Given the description of an element on the screen output the (x, y) to click on. 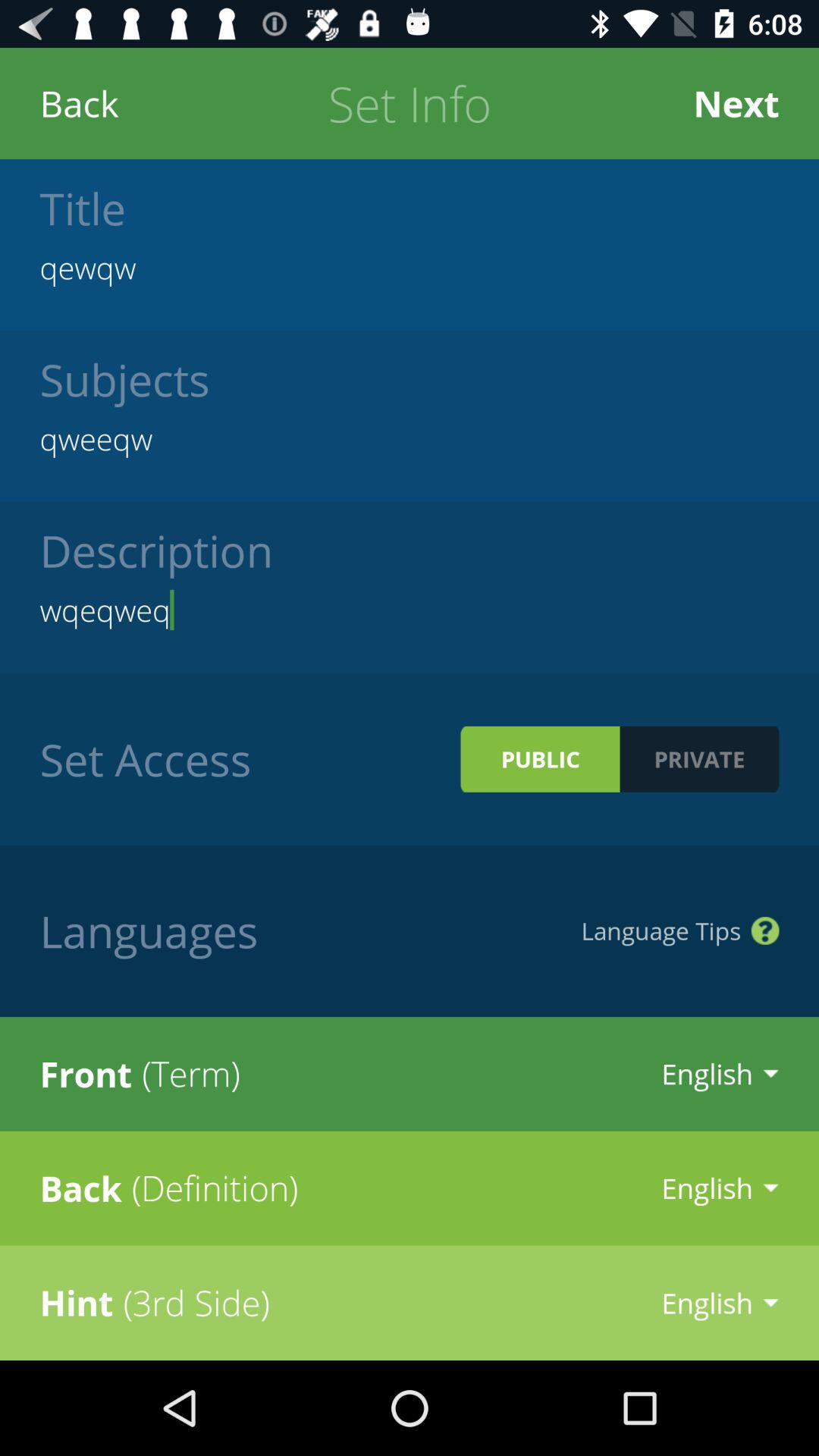
tap item to the left of private icon (539, 759)
